Given the description of an element on the screen output the (x, y) to click on. 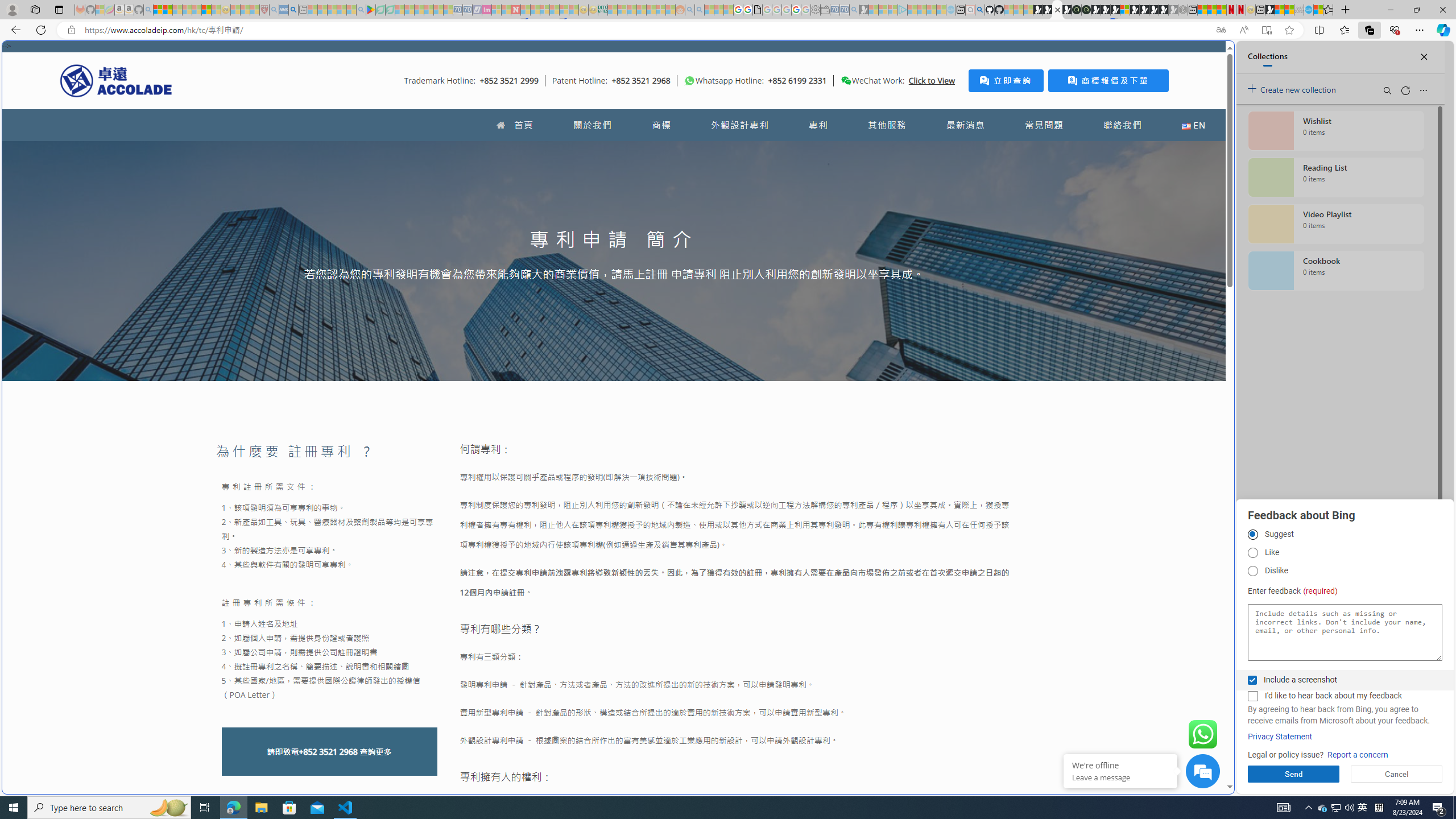
Close split screen (1208, 57)
Jobs - lastminute.com Investor Portal - Sleeping (486, 9)
+852 3521 2968 (328, 751)
